Given the description of an element on the screen output the (x, y) to click on. 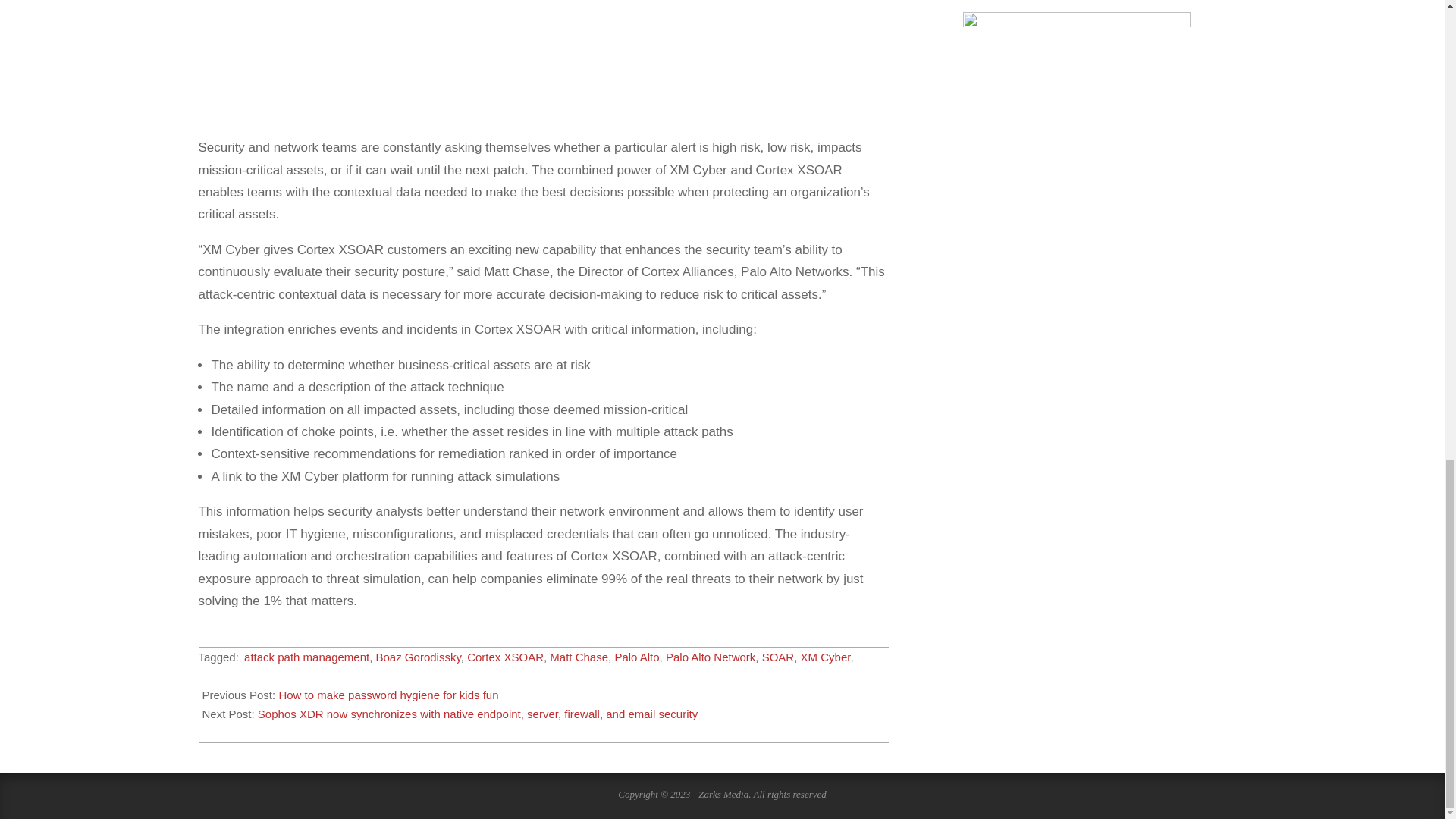
Cortex XSOAR (505, 656)
attack path management (306, 656)
Boaz Gorodissky (418, 656)
Matt Chase (579, 656)
